Given the description of an element on the screen output the (x, y) to click on. 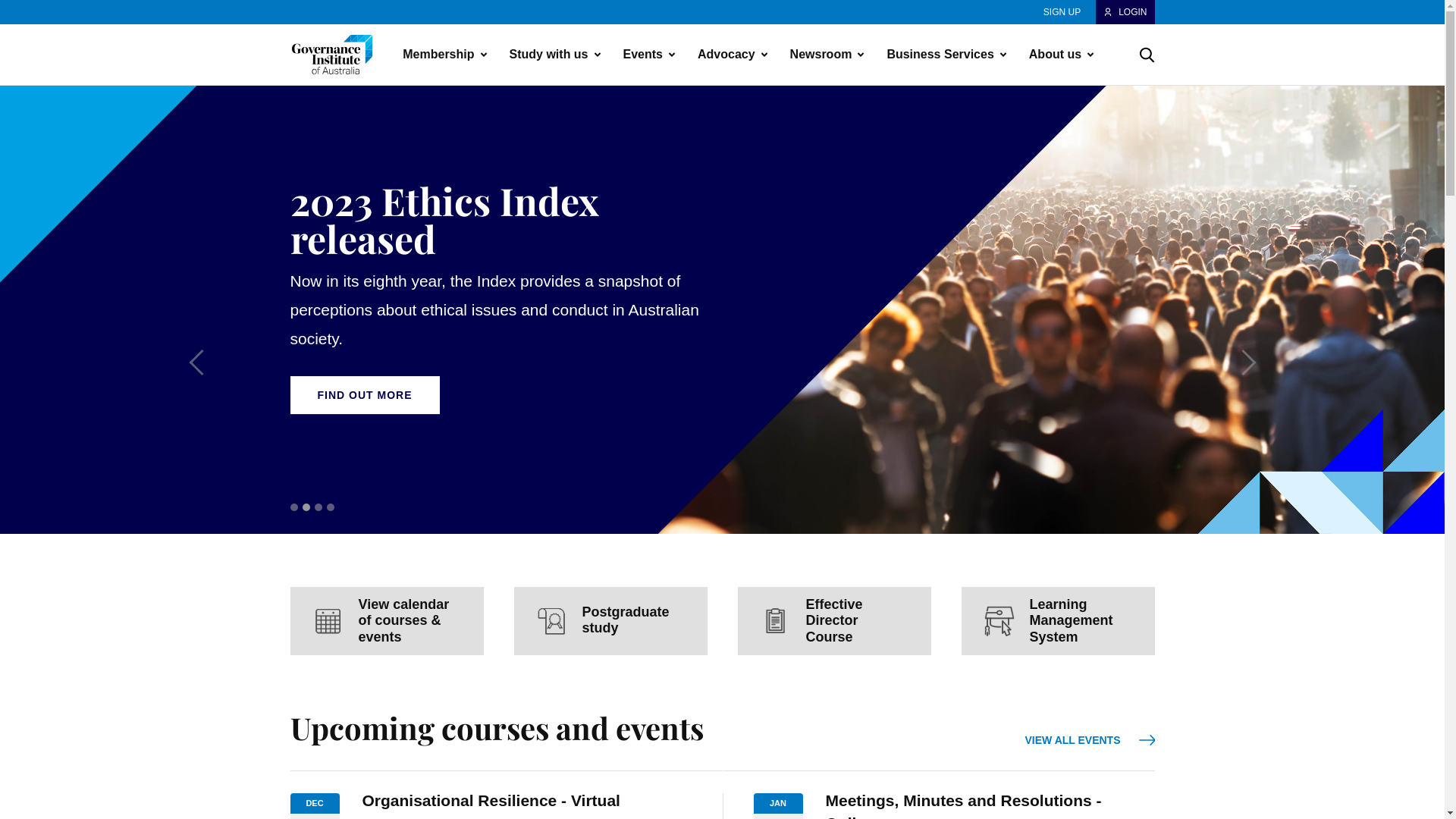
LOGIN Element type: text (1124, 12)
Business Services Element type: text (941, 54)
Postgraduate study Element type: text (610, 620)
Events Element type: text (644, 54)
Advocacy Element type: text (727, 54)
View calendar of courses & events Element type: text (386, 620)
Membership Element type: text (439, 54)
Study with us Element type: text (550, 54)
Effective Director Course Element type: text (833, 620)
VIEW ALL EVENTS Element type: text (1089, 740)
About us Element type: text (1056, 54)
SIGN UP Element type: text (1061, 12)
Newsroom Element type: text (822, 54)
Learning Management System Element type: text (1057, 620)
FIND OUT MORE Element type: text (364, 395)
